Given the description of an element on the screen output the (x, y) to click on. 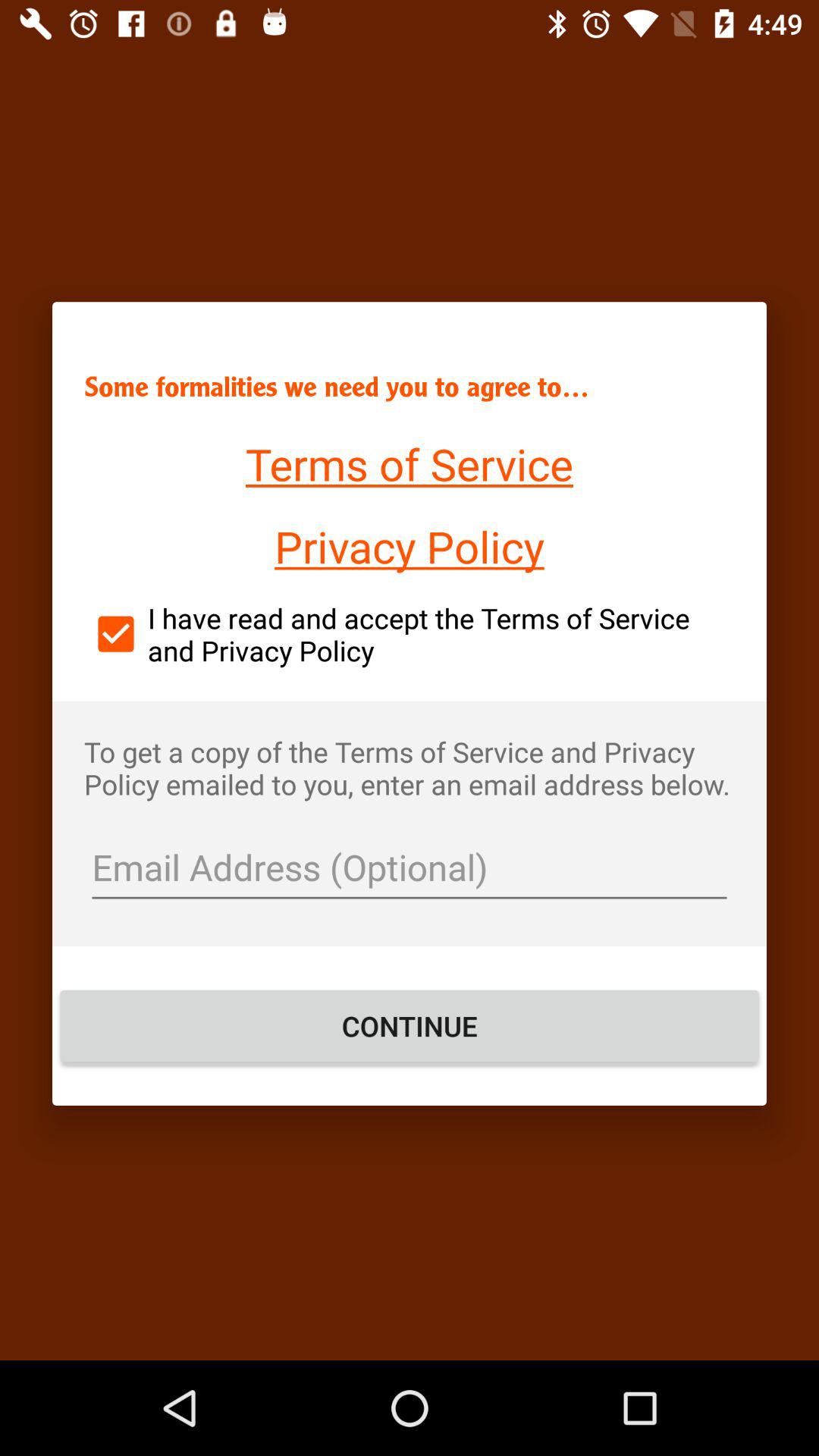
swipe until the continue (409, 1025)
